Given the description of an element on the screen output the (x, y) to click on. 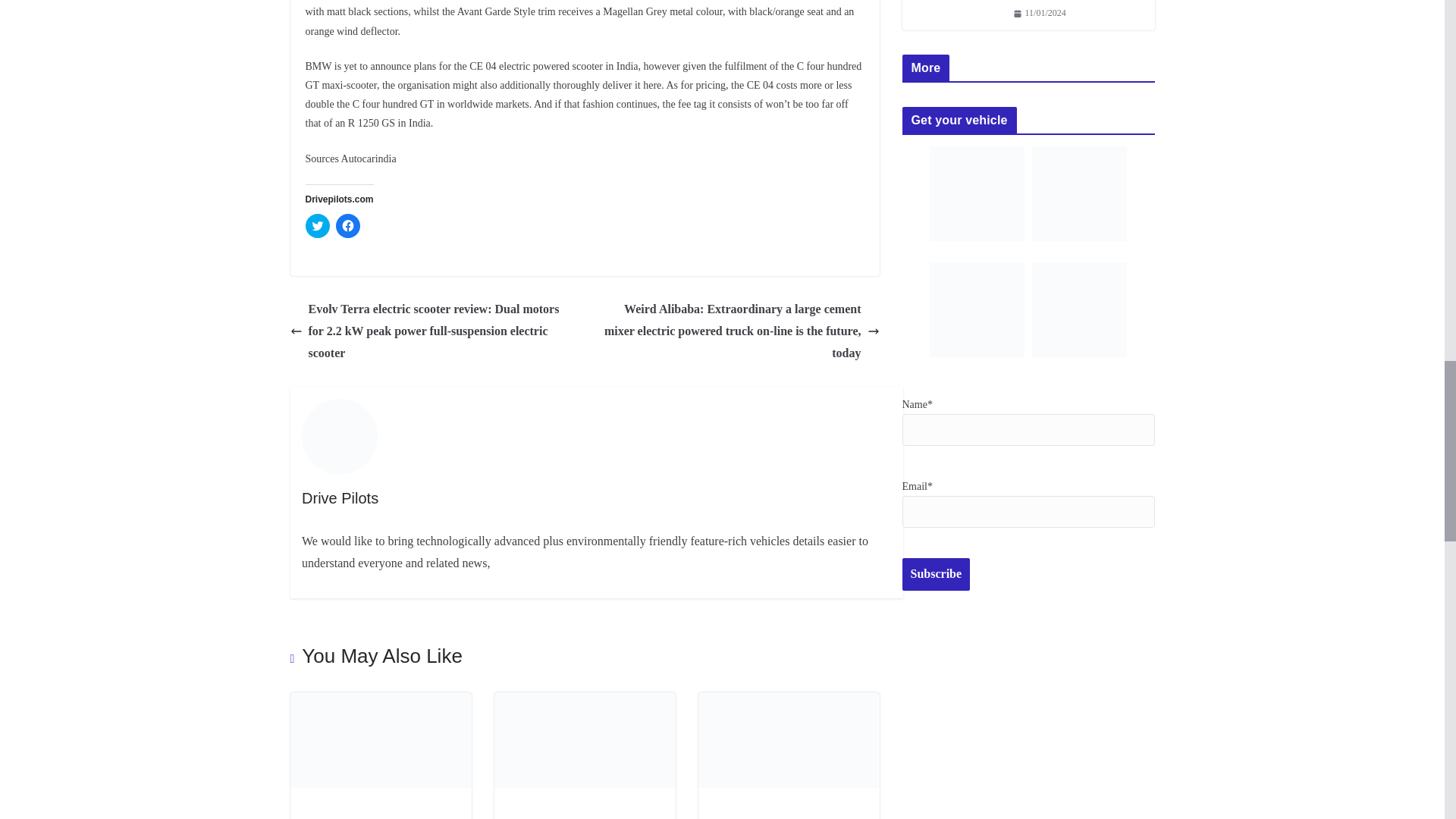
Subscribe (936, 573)
Click to share on Facebook (346, 225)
Click to share on Twitter (316, 225)
